Given the description of an element on the screen output the (x, y) to click on. 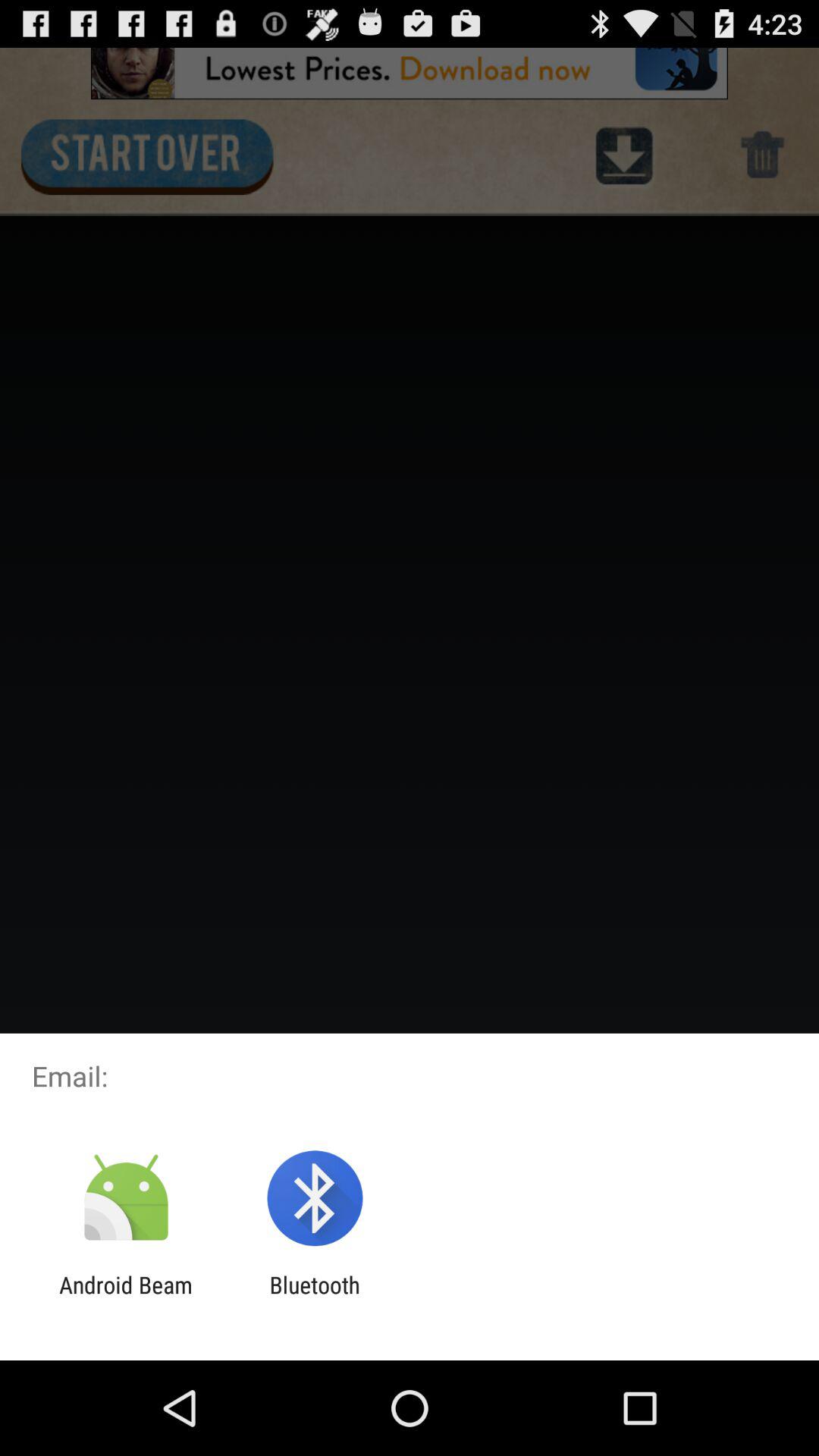
open the app to the right of android beam app (314, 1298)
